Given the description of an element on the screen output the (x, y) to click on. 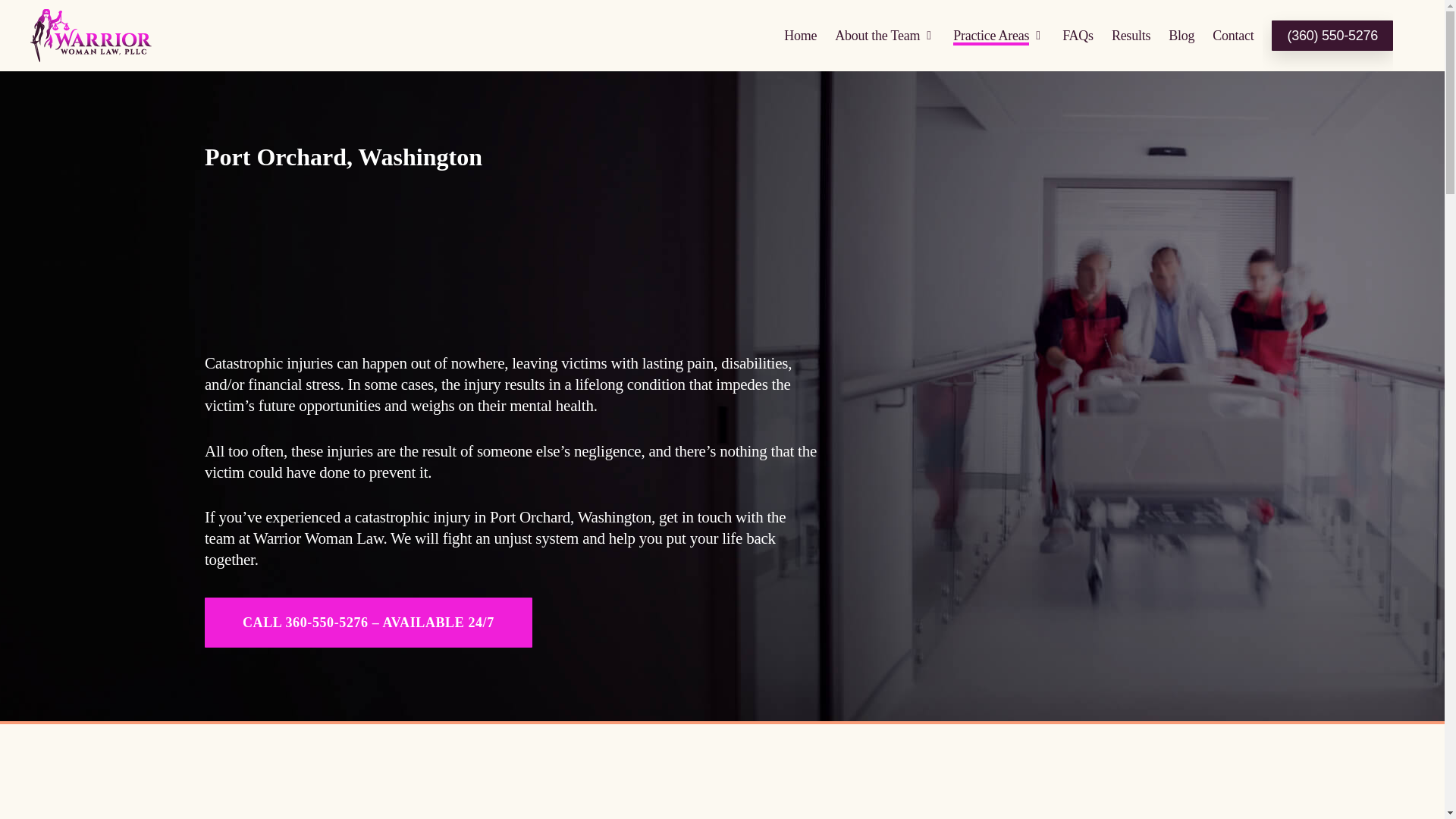
Home (800, 35)
FAQs (1077, 35)
Contact (1232, 35)
Results (1131, 35)
Practice Areas (998, 35)
About the Team (884, 35)
Blog (1181, 35)
